Given the description of an element on the screen output the (x, y) to click on. 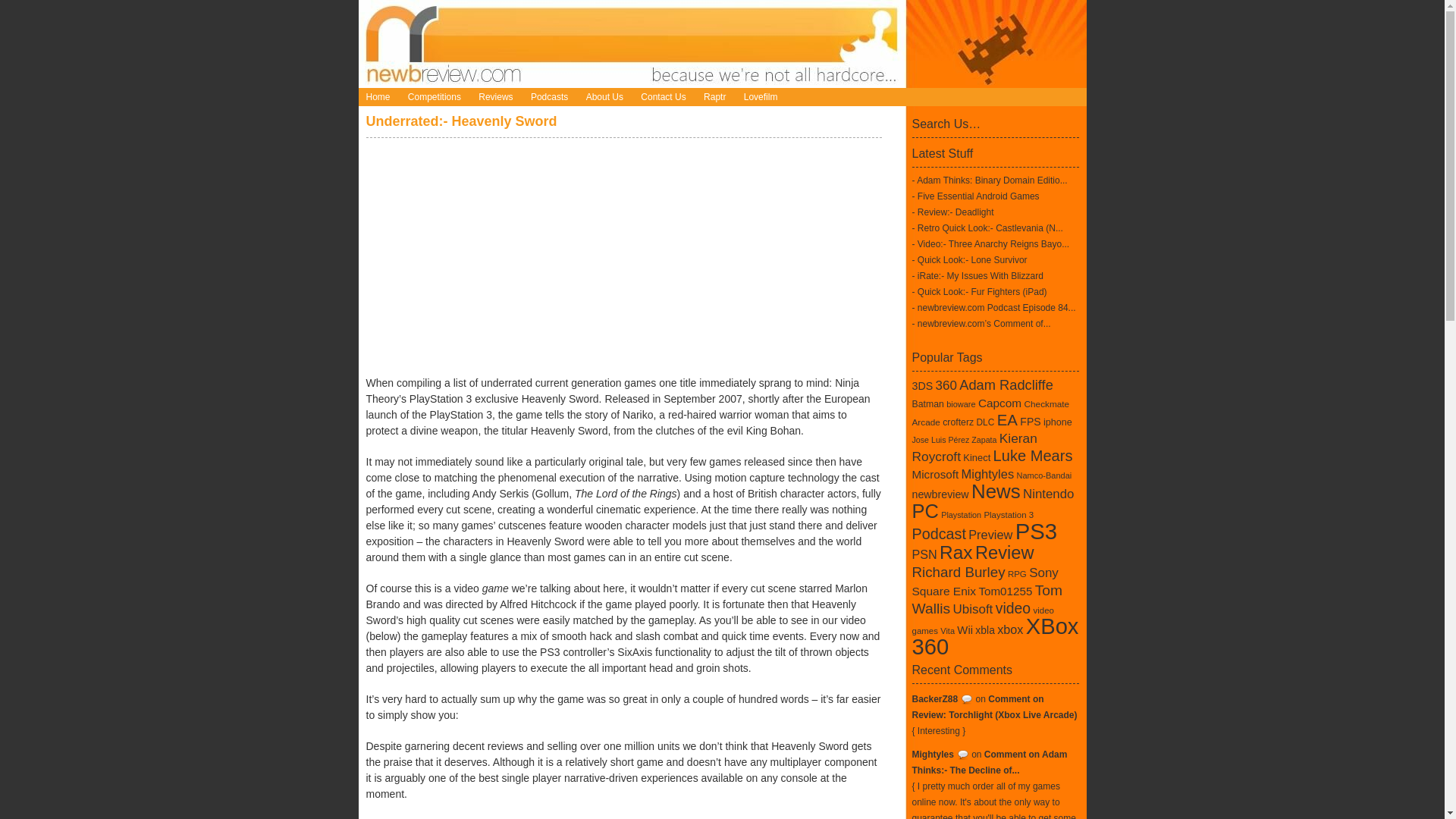
Reviews (494, 96)
- Five Essential Android Games (975, 195)
- iRate:- My Issues With Blizzard (976, 276)
Video:- Three Anarchy Reigns Bayonetta Gameplay Clips (989, 244)
Podcasts (548, 96)
Underrated Heavenly Sword Header (623, 252)
Competitions (434, 96)
Raptr (714, 96)
- Quick Look:- Lone Survivor (968, 259)
- Adam Thinks: Binary Domain Editio... (989, 180)
- Video:- Three Anarchy Reigns Bayo... (989, 244)
Quick Look:- Lone Survivor (968, 259)
iRate:- My Issues With Blizzard (976, 276)
About Us (604, 96)
- Review:- Deadlight (951, 212)
